Given the description of an element on the screen output the (x, y) to click on. 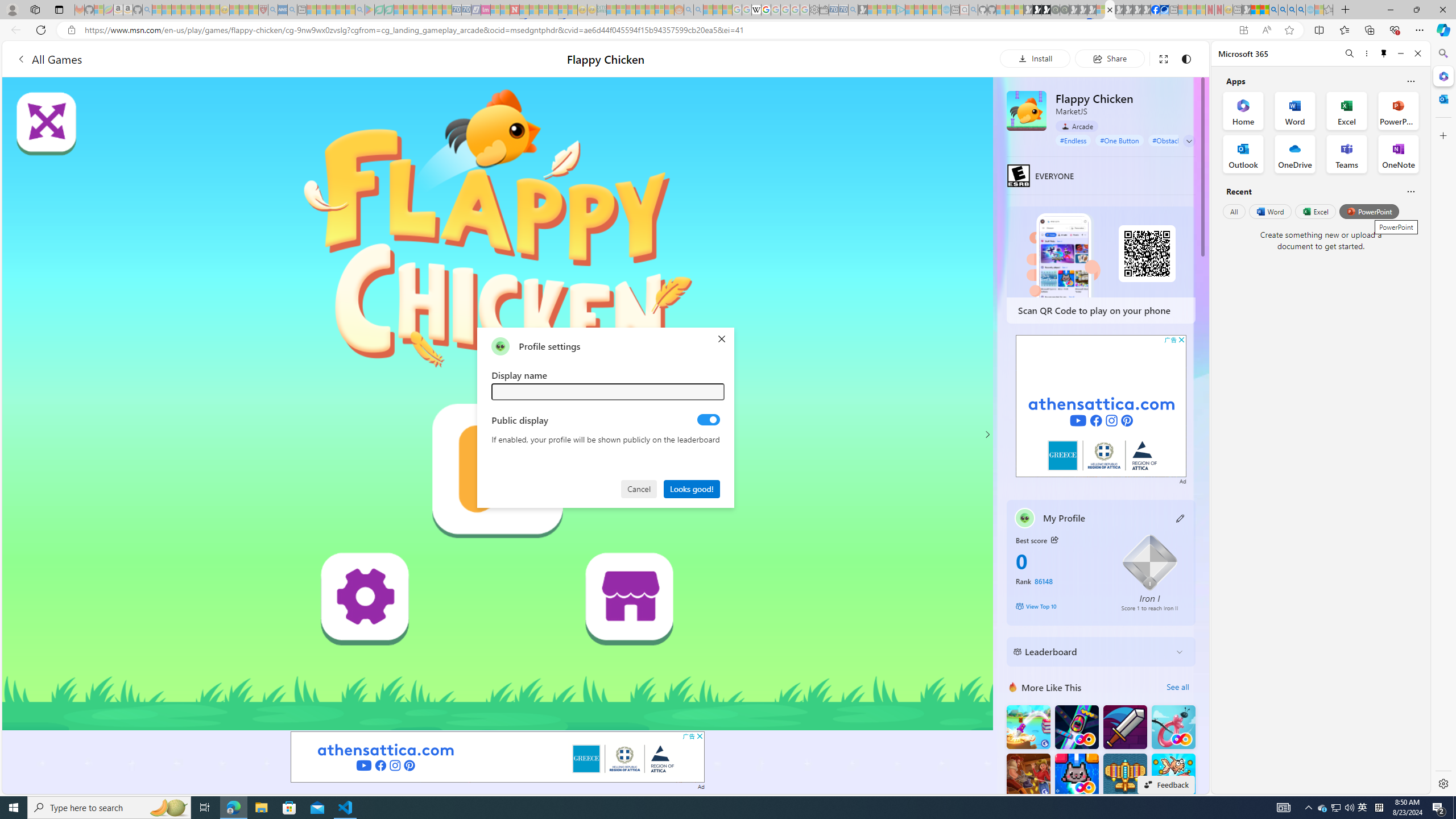
Arcade (1076, 125)
Share (1109, 58)
Balloon FRVR (1173, 726)
Terms of Use Agreement - Sleeping (378, 9)
Excel (1315, 210)
Wallet - Sleeping (823, 9)
Class: button edit-icon (1180, 517)
App available. Install Flappy Chicken (1243, 29)
Word Office App (1295, 110)
PowerPoint (1369, 210)
